Given the description of an element on the screen output the (x, y) to click on. 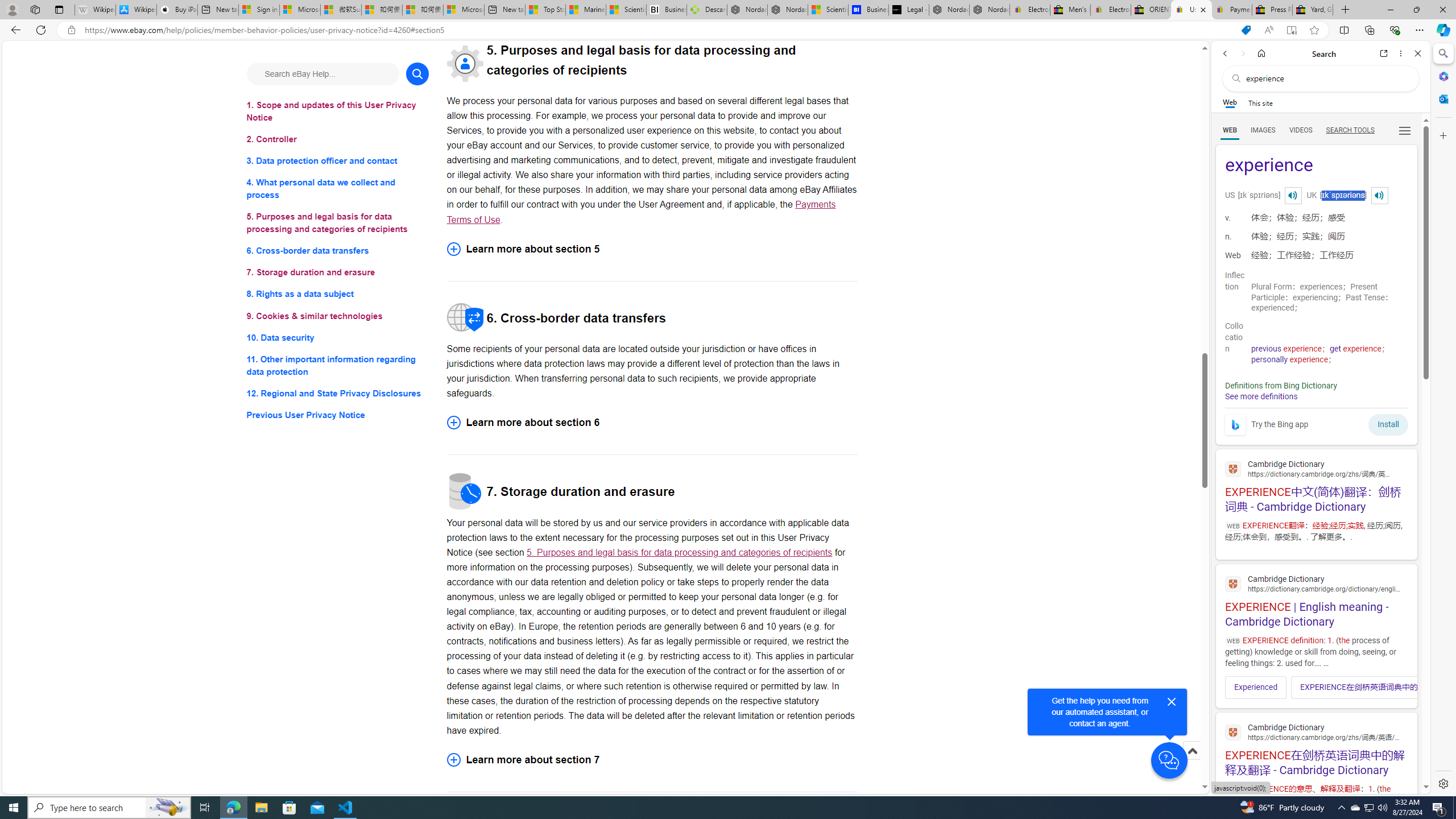
8. Rights as a data subject (337, 293)
EXPERIENCE | English meaning - Cambridge Dictionary (1315, 599)
6. Cross-border data transfers (337, 250)
experience (1315, 165)
Learn more about section 6 (651, 422)
Search eBay Help... (322, 73)
